Given the description of an element on the screen output the (x, y) to click on. 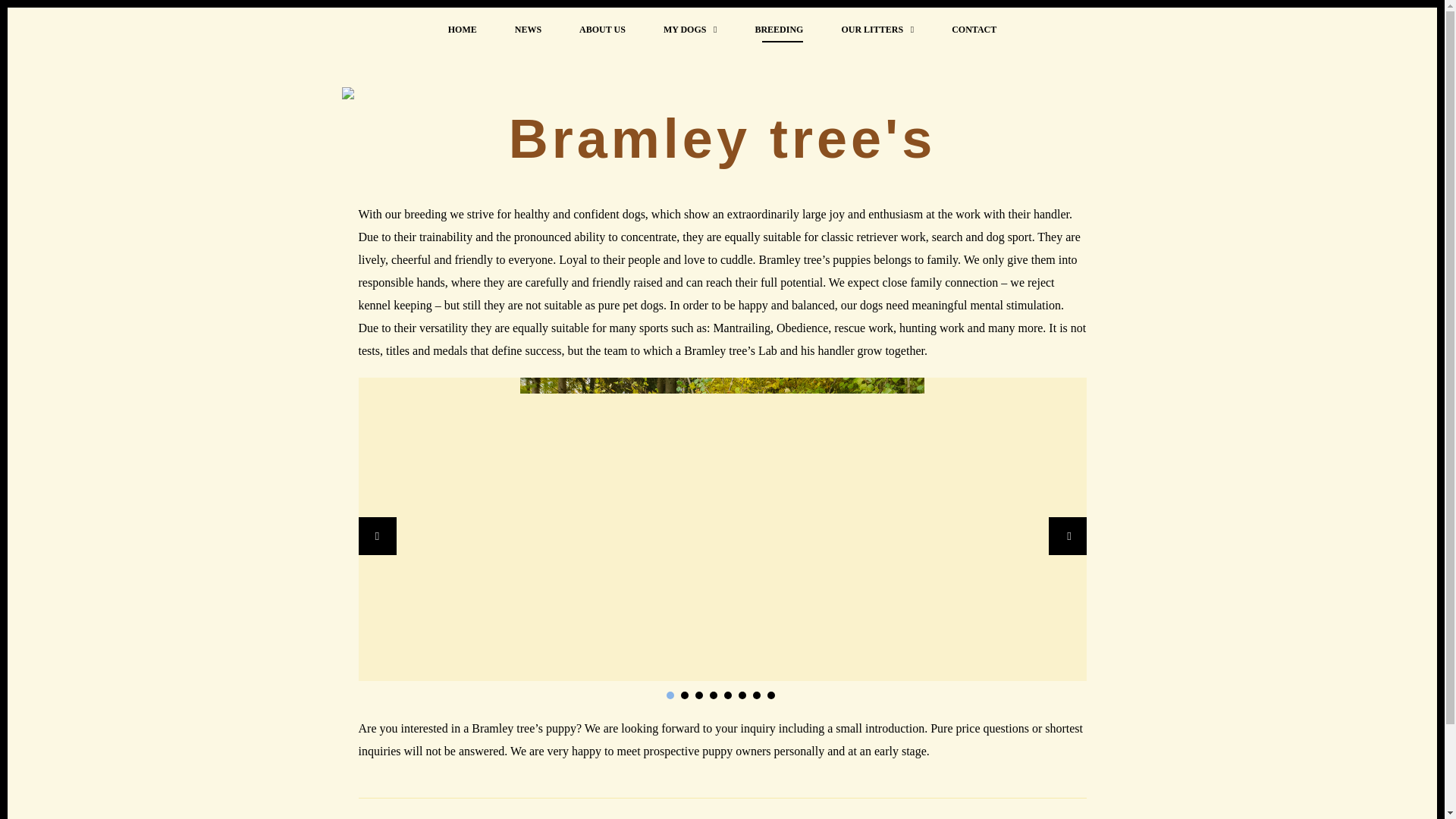
ABOUT US (602, 29)
6 (741, 695)
Bramley tree's (722, 138)
1 (668, 695)
CONTACT (973, 29)
5 (726, 695)
7 (756, 695)
8 (770, 695)
3 (697, 695)
2 (684, 695)
